Given the description of an element on the screen output the (x, y) to click on. 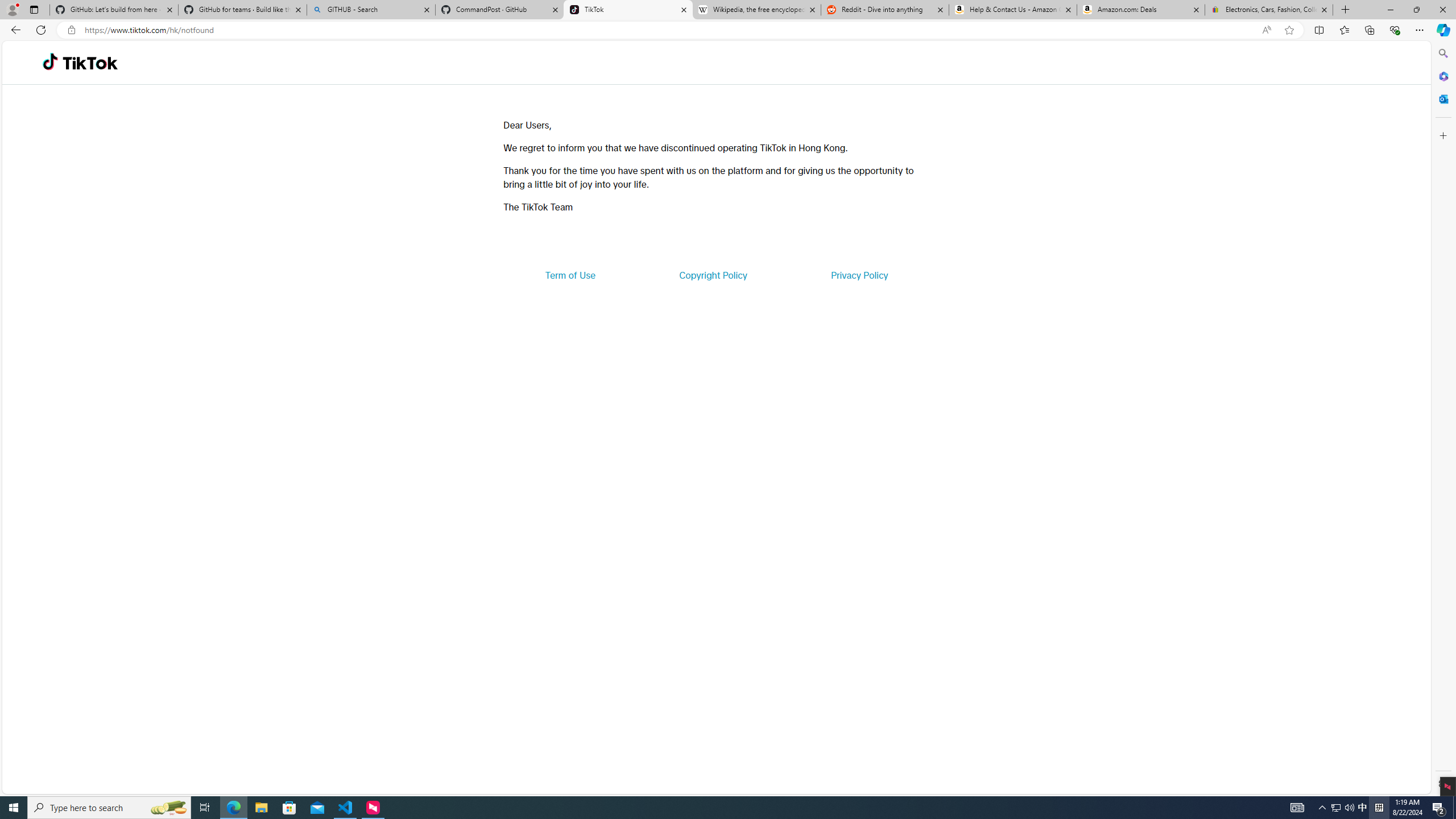
TikTok (628, 9)
TikTok (89, 62)
Help & Contact Us - Amazon Customer Service (1012, 9)
Reddit - Dive into anything (884, 9)
